Given the description of an element on the screen output the (x, y) to click on. 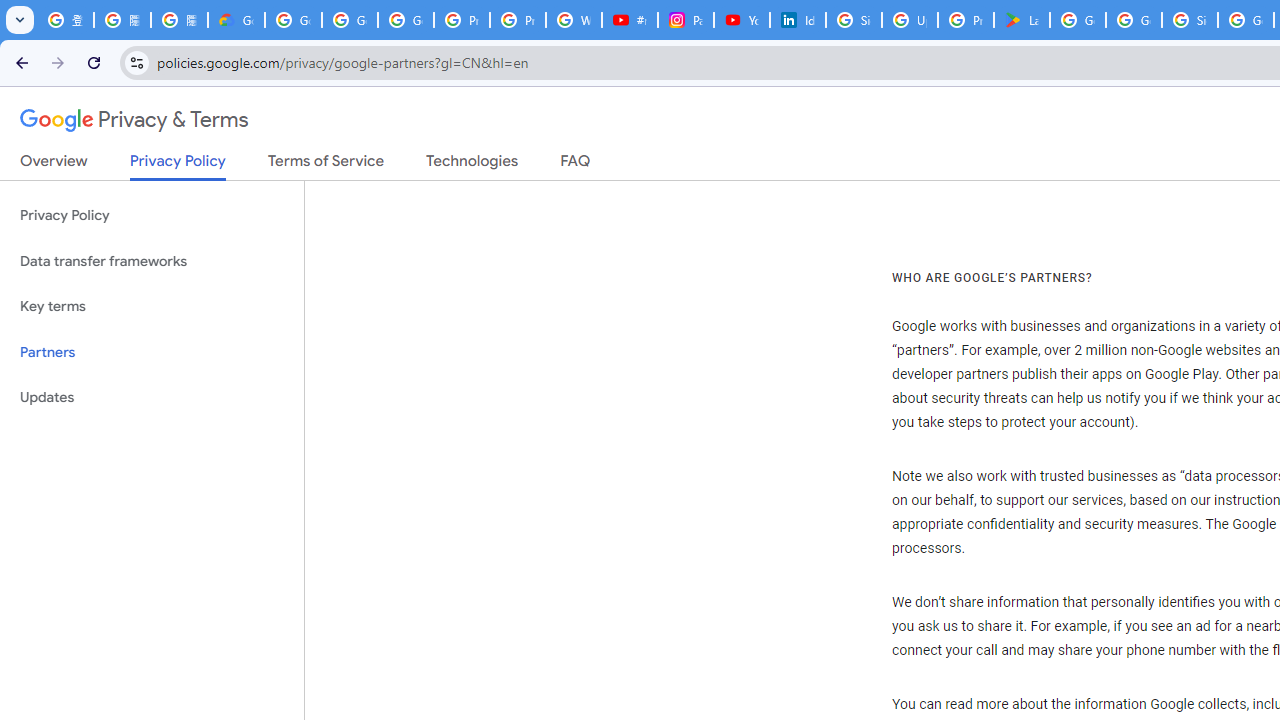
Overview (54, 165)
Privacy Policy (152, 215)
Key terms (152, 306)
